Given the description of an element on the screen output the (x, y) to click on. 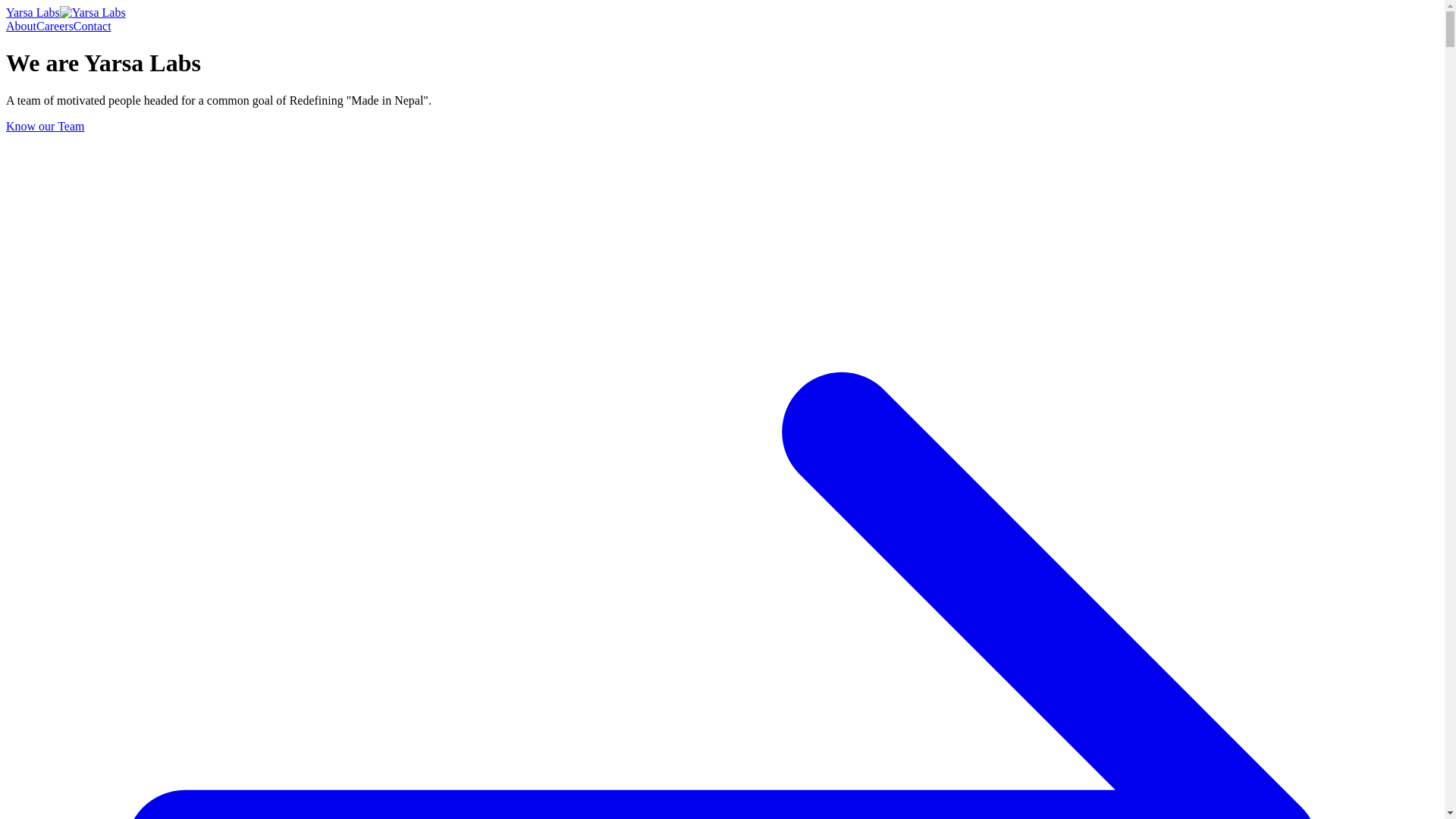
Contact (93, 25)
Yarsa Labs (65, 11)
Careers (55, 25)
About (20, 25)
